Given the description of an element on the screen output the (x, y) to click on. 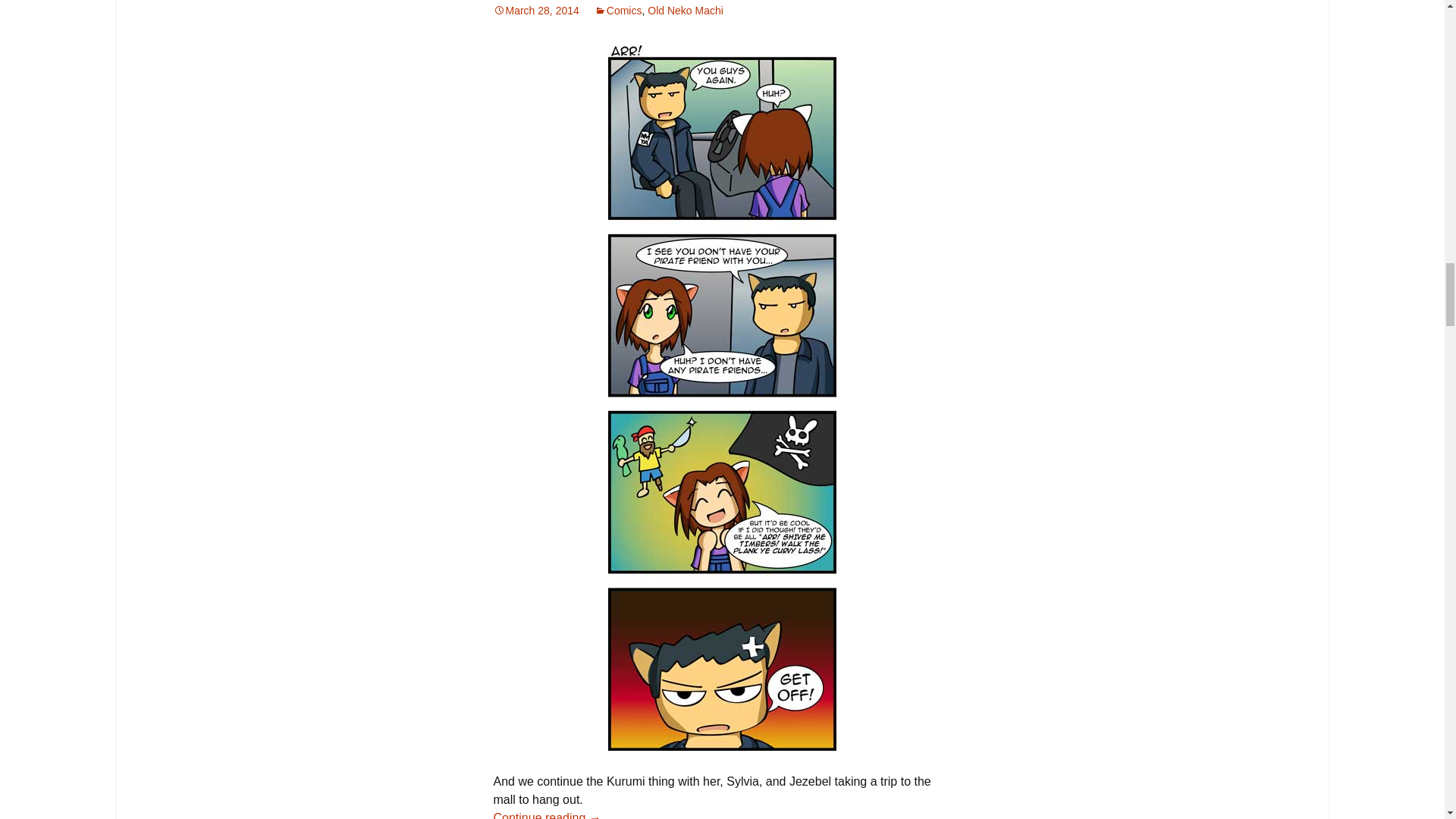
Comics (618, 10)
March 28, 2014 (535, 10)
Old Neko Machi (685, 10)
